Given the description of an element on the screen output the (x, y) to click on. 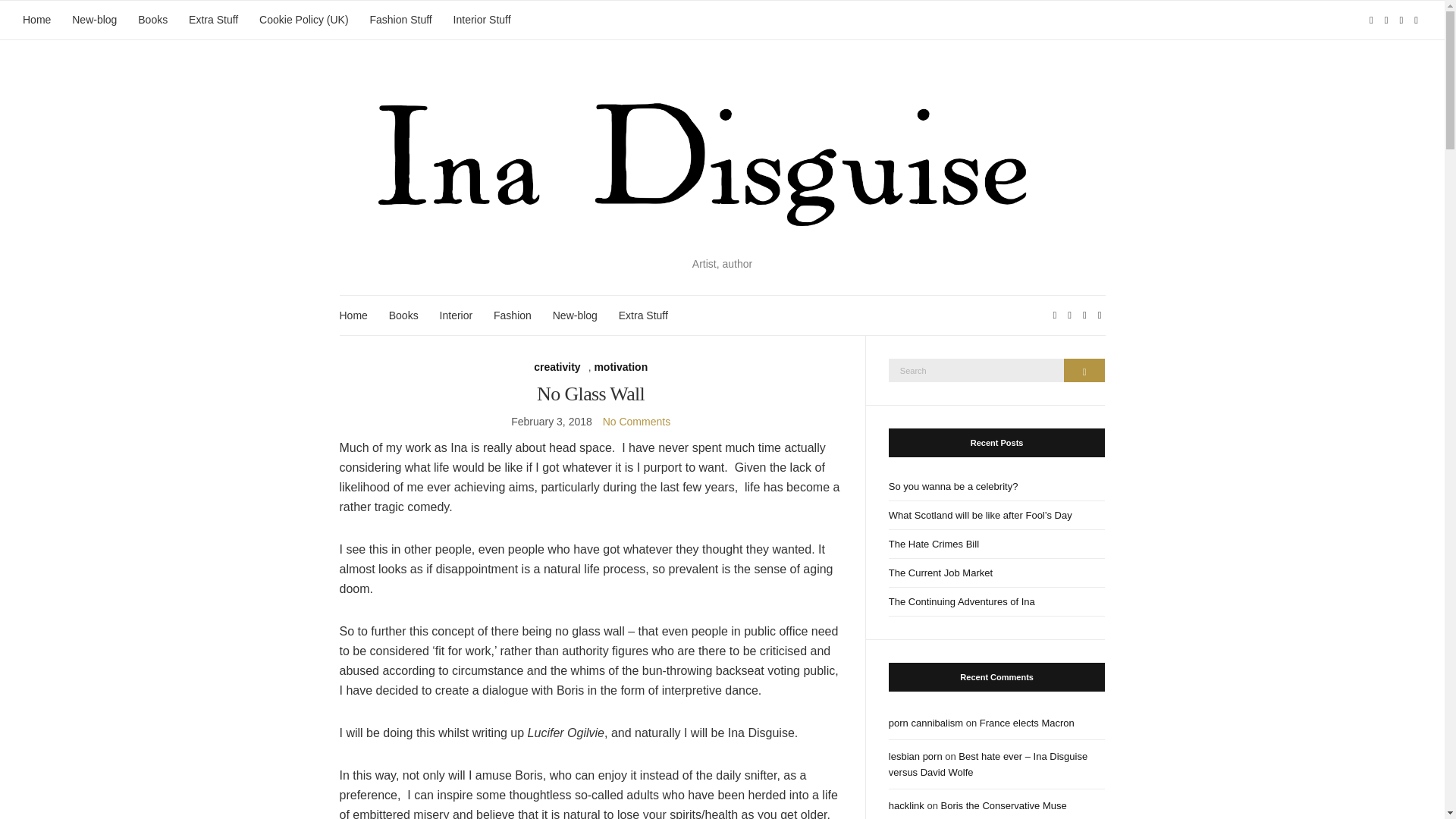
Books (403, 315)
New-blog (574, 315)
Home (36, 19)
New-blog (93, 19)
Interior Stuff (481, 19)
No Comments (635, 421)
Books (152, 19)
Fashion Stuff (399, 19)
motivation (620, 366)
Fashion (512, 315)
Extra Stuff (643, 315)
Home (353, 315)
Interior (456, 315)
creativity (556, 366)
Extra Stuff (213, 19)
